Given the description of an element on the screen output the (x, y) to click on. 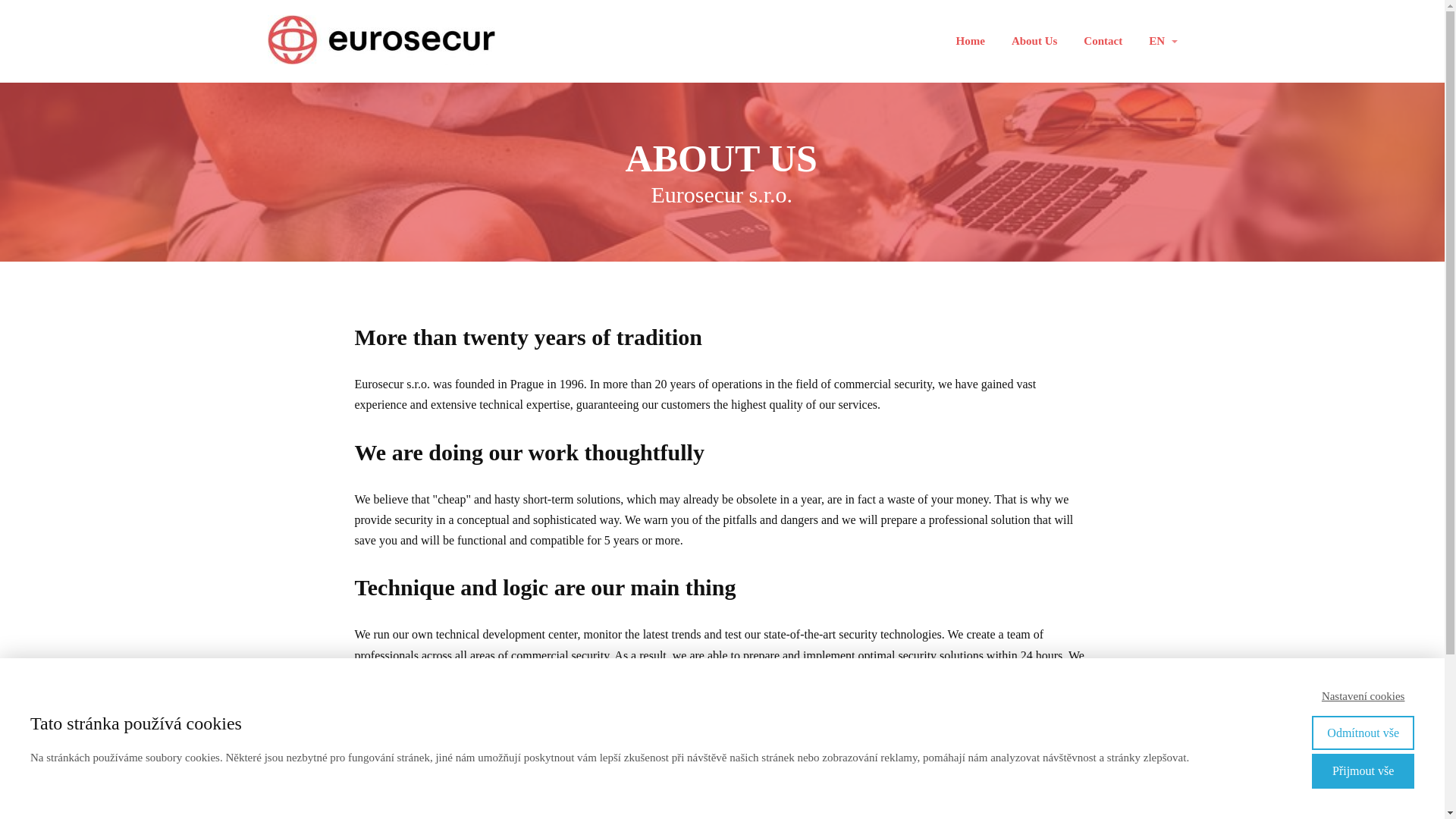
Contact (1102, 40)
About us (757, 808)
Home (970, 40)
Eurosecur (380, 41)
EN (1162, 40)
General Terms and Conditions Eurosecur s.r.o. (997, 811)
About Us (1034, 40)
